Given the description of an element on the screen output the (x, y) to click on. 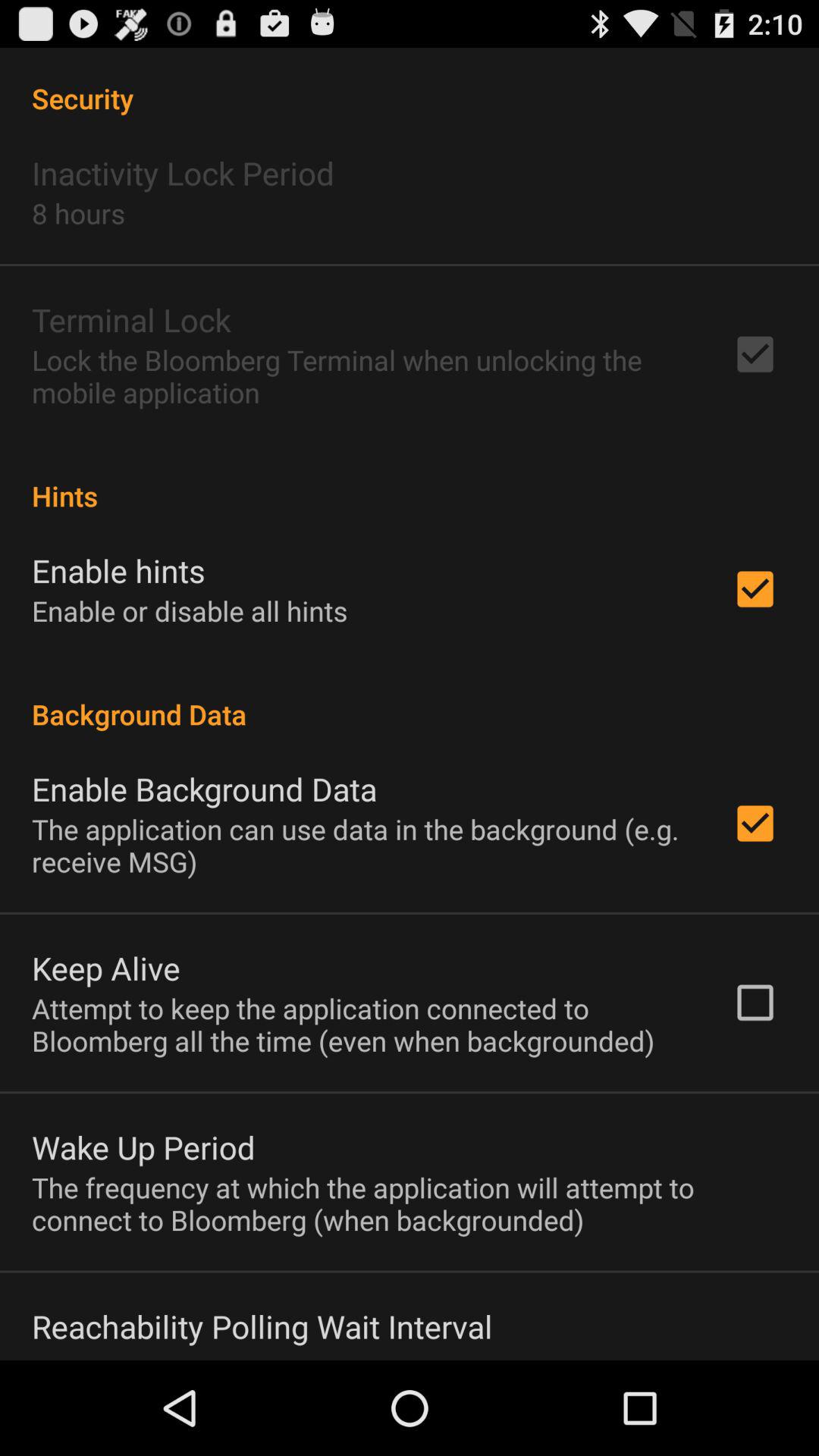
select the icon on right side of enable hints (755, 589)
click on the box which is right hand side of keep alive (755, 1002)
